Given the description of an element on the screen output the (x, y) to click on. 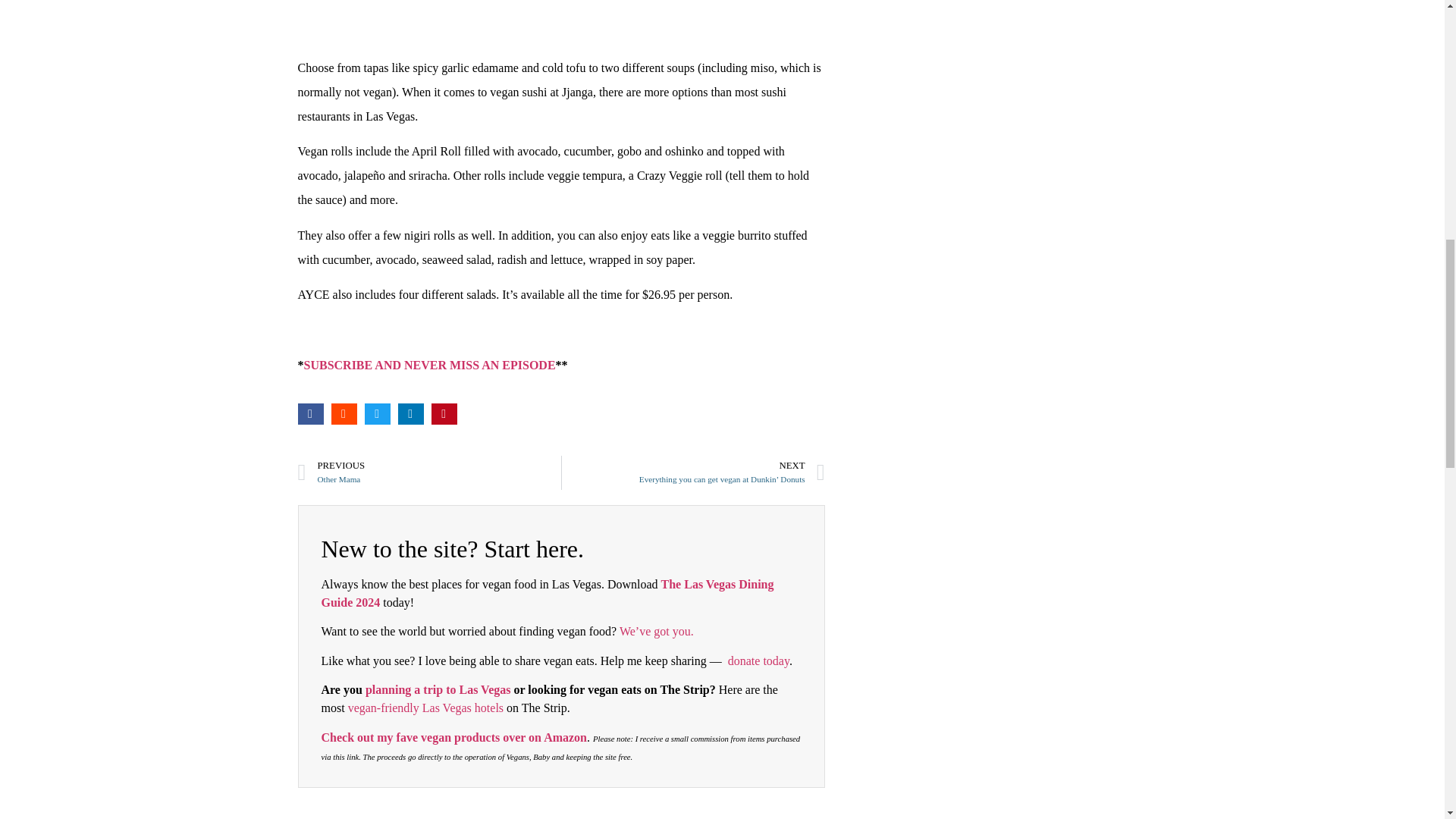
YouTube video player (560, 18)
